Given the description of an element on the screen output the (x, y) to click on. 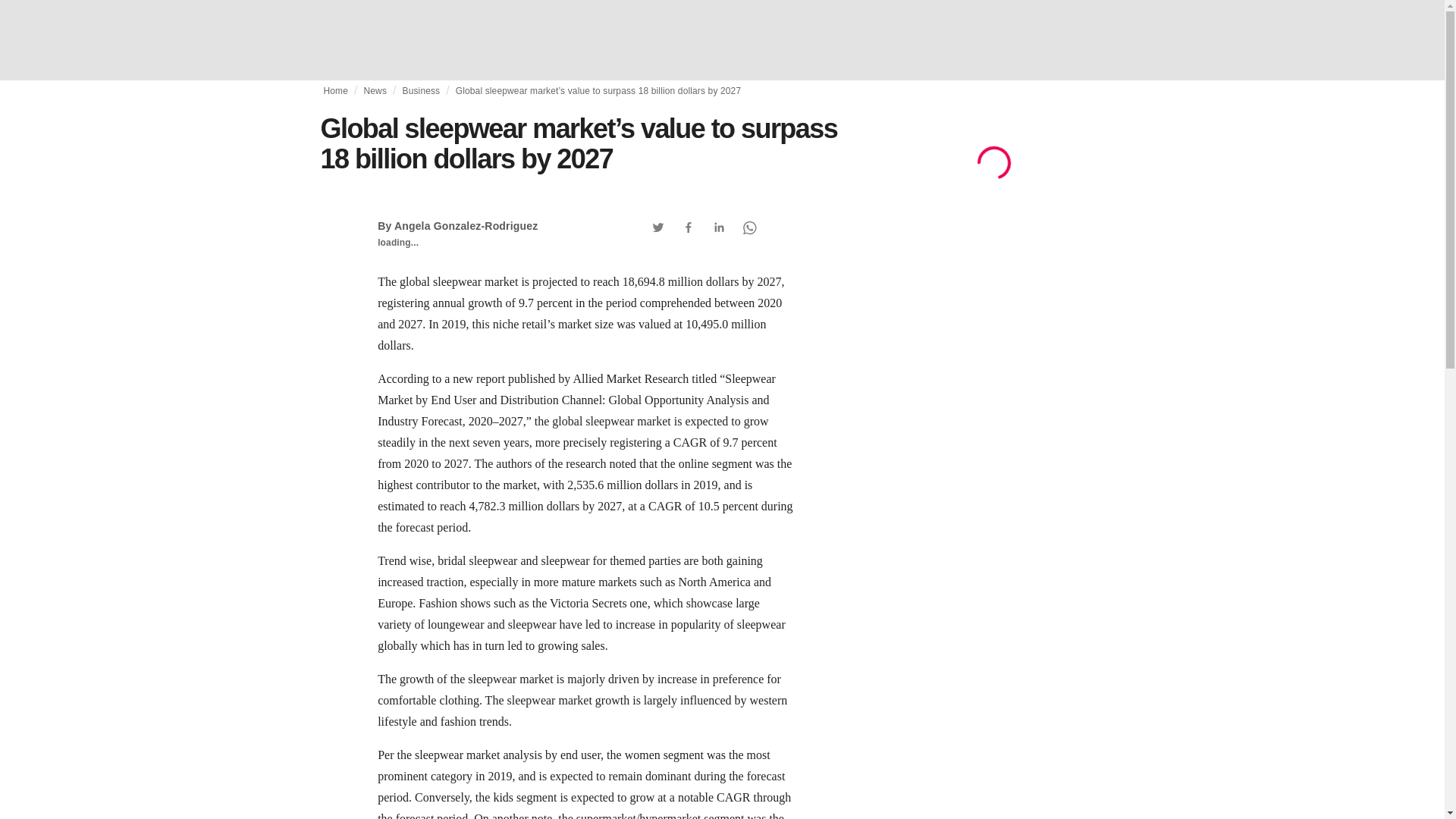
Home (335, 90)
By Angela Gonzalez-Rodriguez (457, 225)
Business (420, 90)
News (375, 90)
